Given the description of an element on the screen output the (x, y) to click on. 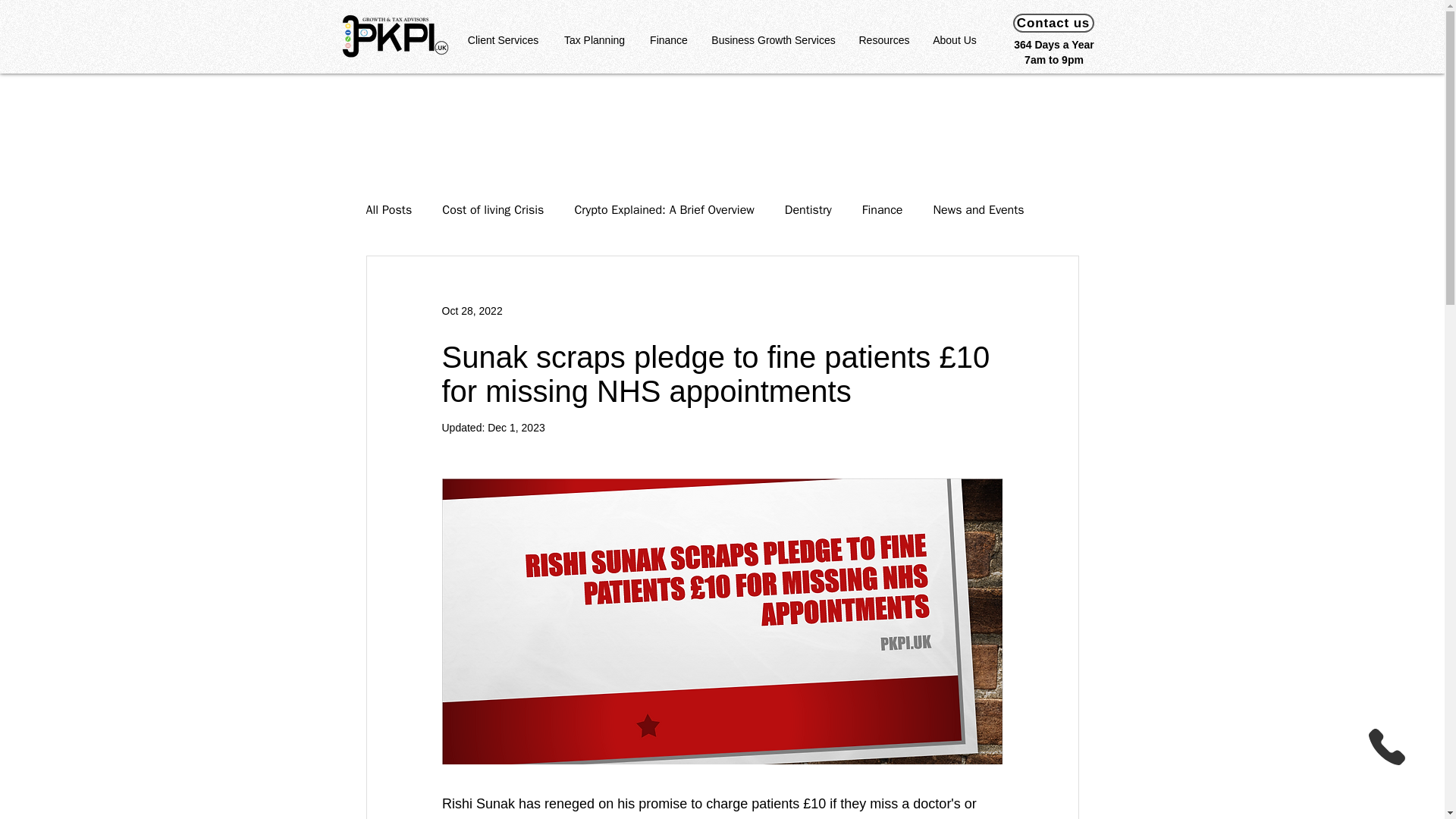
Finance (669, 40)
Oct 28, 2022 (471, 310)
Dec 1, 2023 (515, 427)
Client Services (502, 40)
Tax Planning (593, 40)
